Given the description of an element on the screen output the (x, y) to click on. 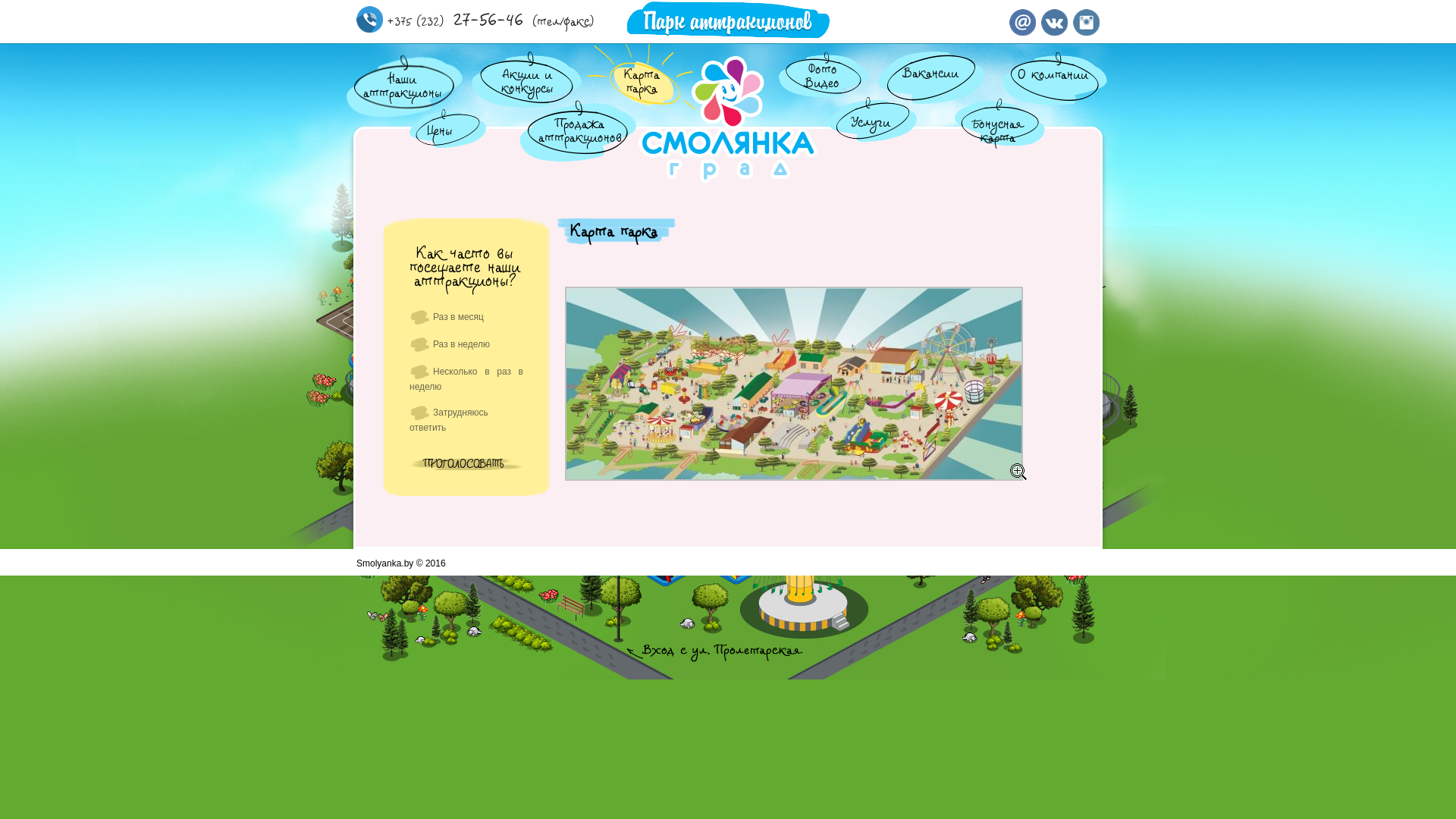
Instagram Element type: hover (1086, 32)
VK Element type: hover (1054, 32)
E-Mail Element type: hover (1022, 32)
